Given the description of an element on the screen output the (x, y) to click on. 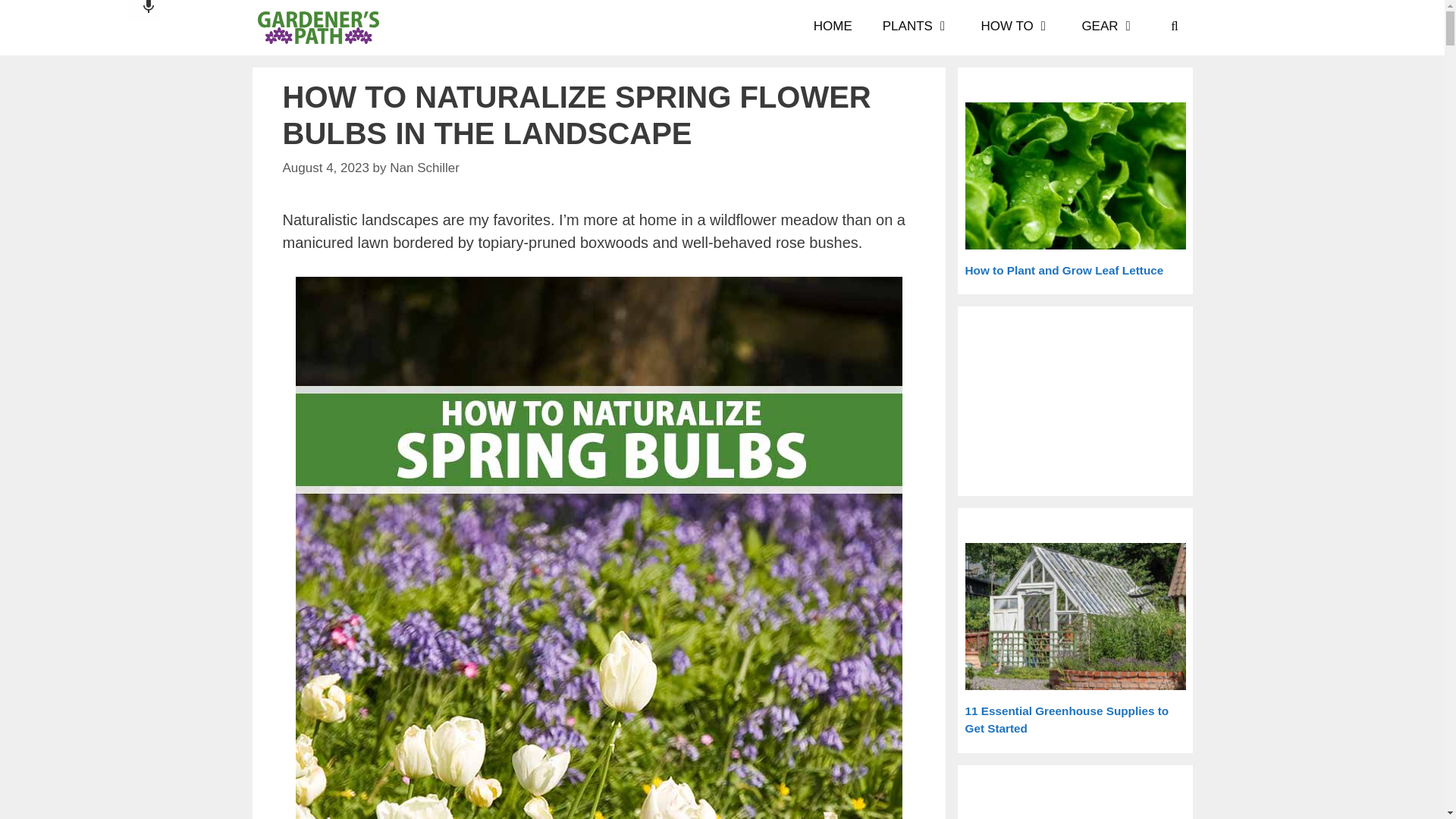
View all posts by Nan Schiller (425, 167)
HOW TO (1016, 26)
GEAR (1108, 26)
HOME (832, 26)
PLANTS (916, 26)
